Given the description of an element on the screen output the (x, y) to click on. 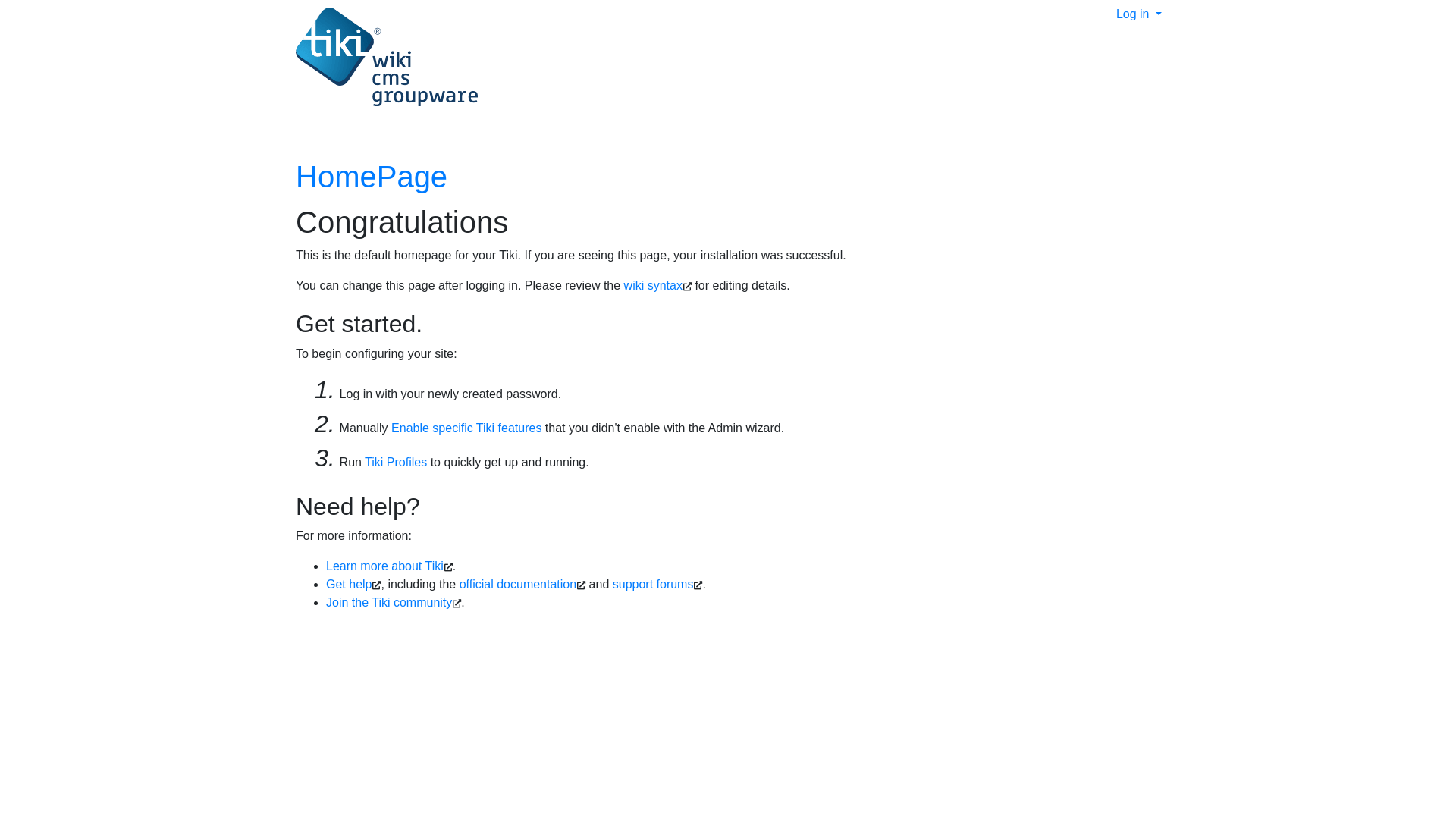
Tiki Profiles Element type: text (395, 461)
HomePage Element type: text (371, 176)
Join the Tiki community Element type: text (388, 602)
Learn more about Tiki Element type: text (384, 565)
Log in Element type: text (1138, 14)
Tiki powered site Element type: hover (380, 57)
wiki syntax Element type: text (653, 285)
support forums Element type: text (652, 583)
Enable specific Tiki features Element type: text (466, 427)
official documentation Element type: text (517, 583)
Get help Element type: text (348, 583)
